Given the description of an element on the screen output the (x, y) to click on. 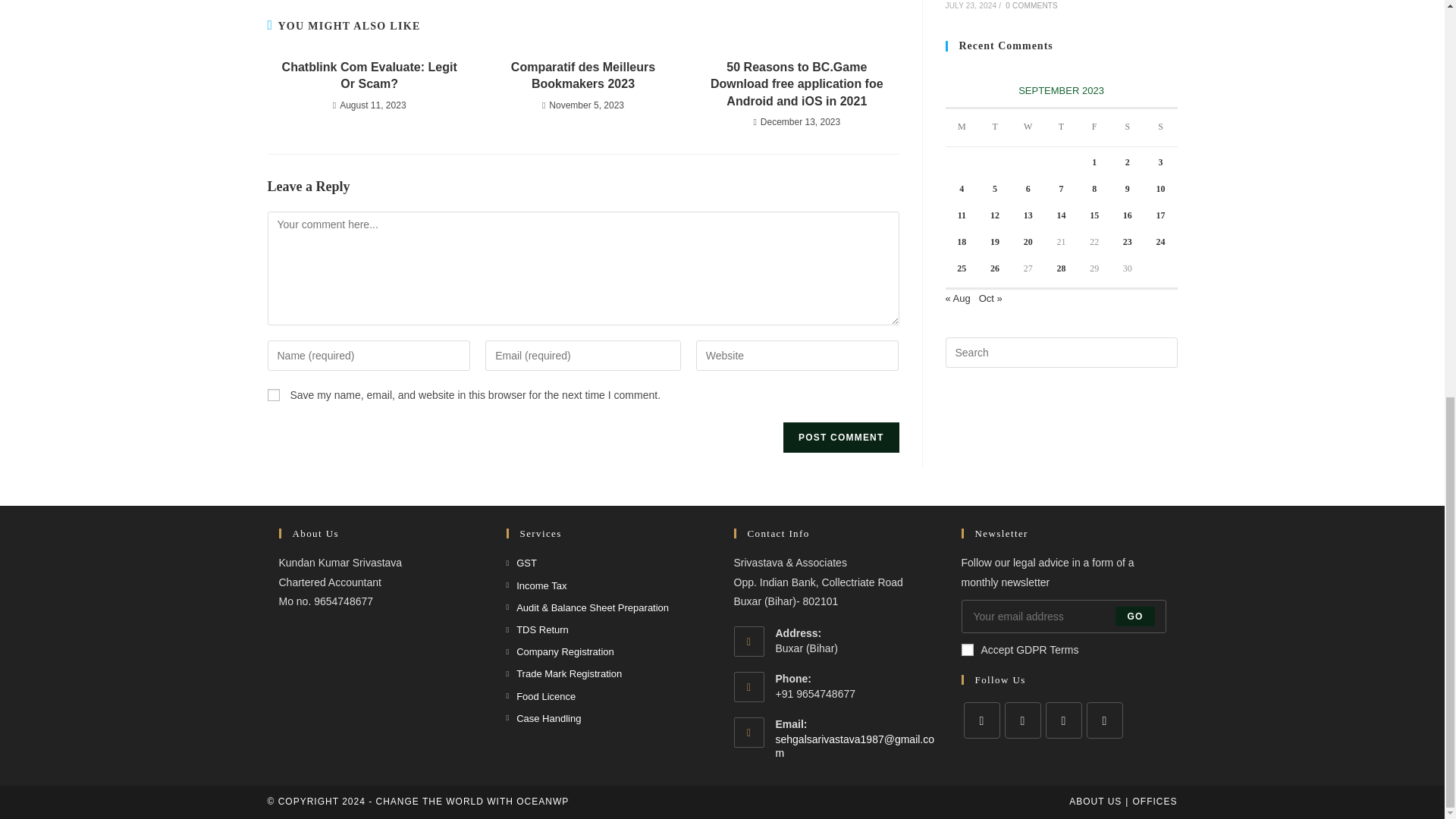
Chatblink Com Evaluate: Legit Or Scam? (368, 75)
1 (967, 649)
Tuesday (994, 127)
Monday (961, 127)
Wednesday (1028, 127)
Friday (1093, 127)
yes (272, 395)
Post Comment (840, 437)
Saturday (1127, 127)
Sunday (1160, 127)
Thursday (1061, 127)
Comparatif des Meilleurs Bookmakers 2023 (582, 75)
Post Comment (840, 437)
